Given the description of an element on the screen output the (x, y) to click on. 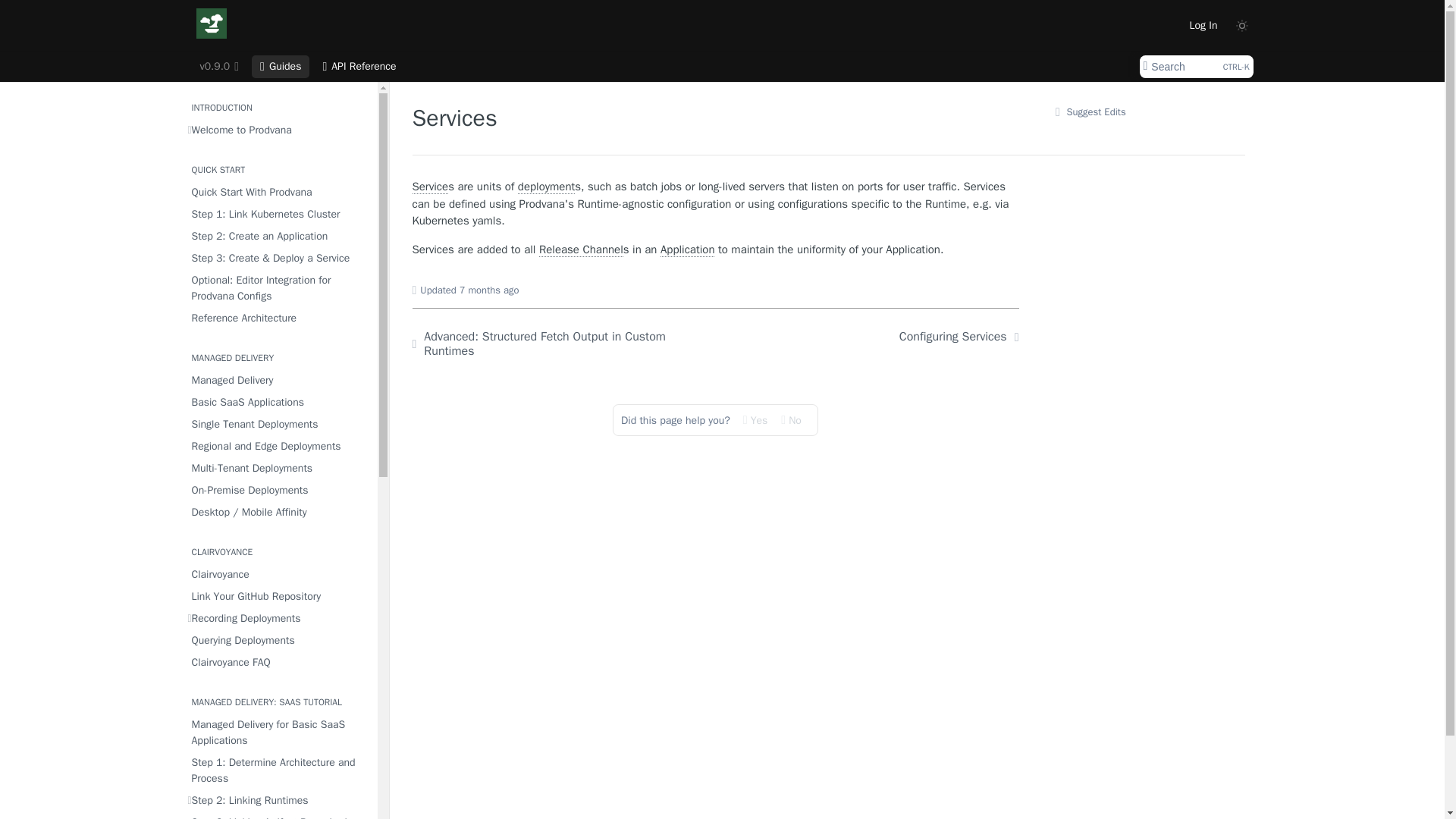
API Reference (359, 66)
v0.9.0 (218, 66)
Single Tenant Deployments (277, 424)
Managed Delivery (277, 380)
Reference Architecture (277, 317)
Quick Start With Prodvana (277, 191)
Regional and Edge Deployments (277, 445)
Multi-Tenant Deployments (277, 467)
Recording Deployments (277, 618)
Step 1: Link Kubernetes Cluster (277, 213)
